Given the description of an element on the screen output the (x, y) to click on. 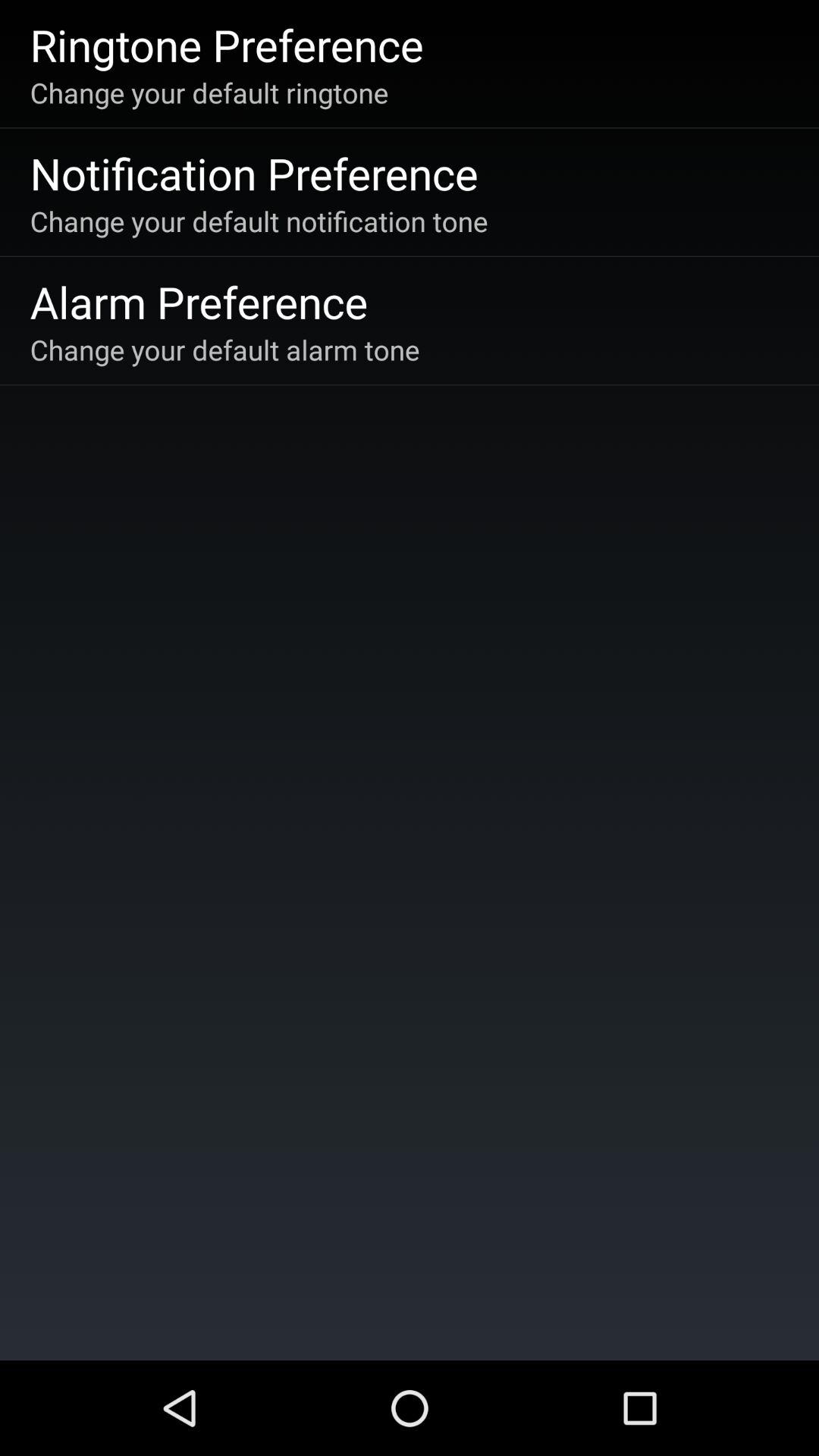
launch the app below the change your default (254, 172)
